Given the description of an element on the screen output the (x, y) to click on. 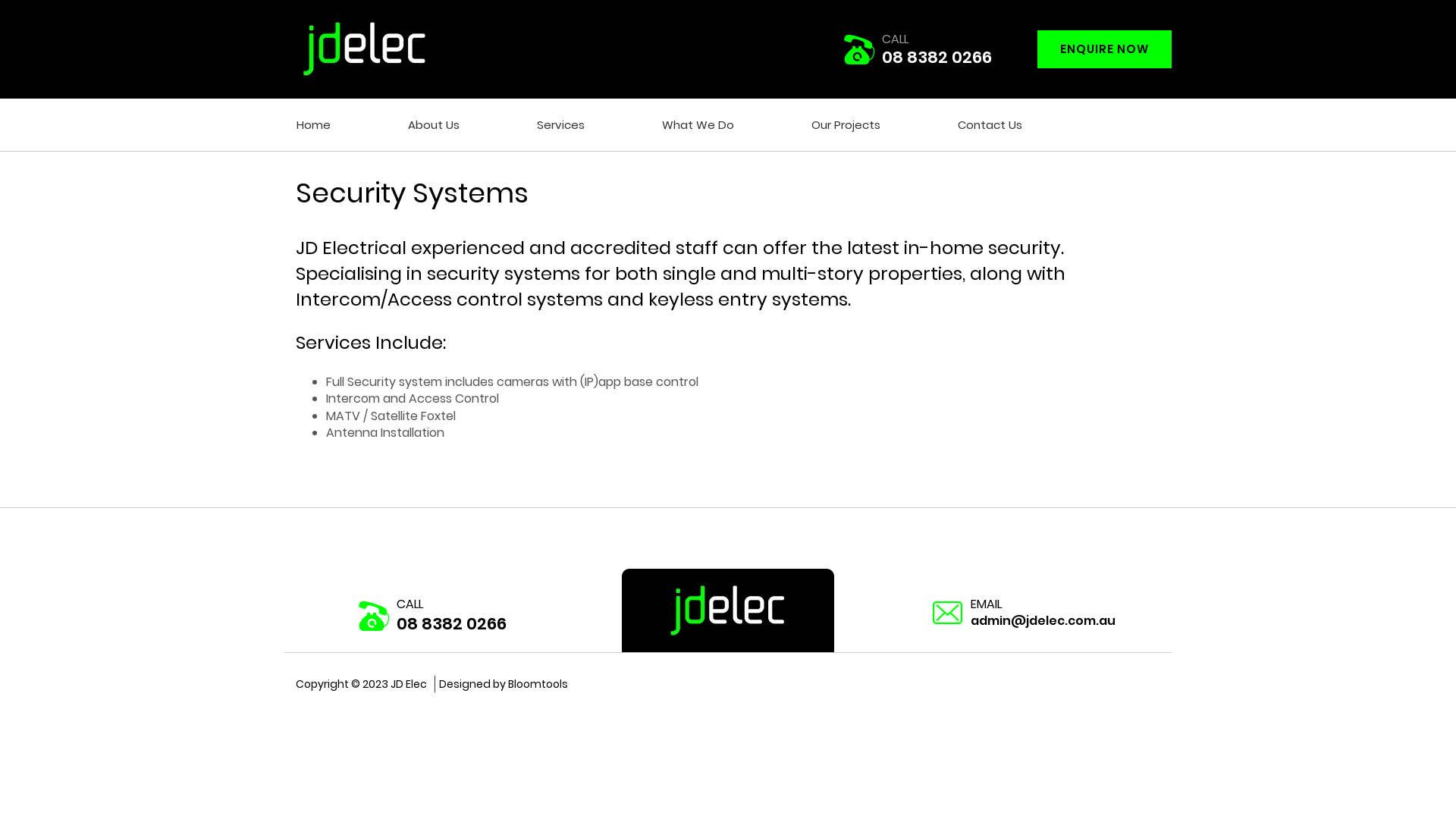
logo Element type: hover (362, 44)
EMAIL
admin@jdelec.com.au Element type: text (1023, 613)
CALL
08 8382 0266 Element type: text (431, 616)
Our Projects Element type: text (845, 124)
Home Element type: text (313, 124)
ENQUIRE NOW Element type: text (1104, 49)
About Us Element type: text (433, 124)
CALL
08 8382 0266 Element type: text (917, 49)
What We Do Element type: text (697, 124)
logo Element type: hover (727, 609)
Bloomtools Element type: text (537, 683)
Services Element type: text (560, 124)
Contact Us Element type: text (989, 124)
